Given the description of an element on the screen output the (x, y) to click on. 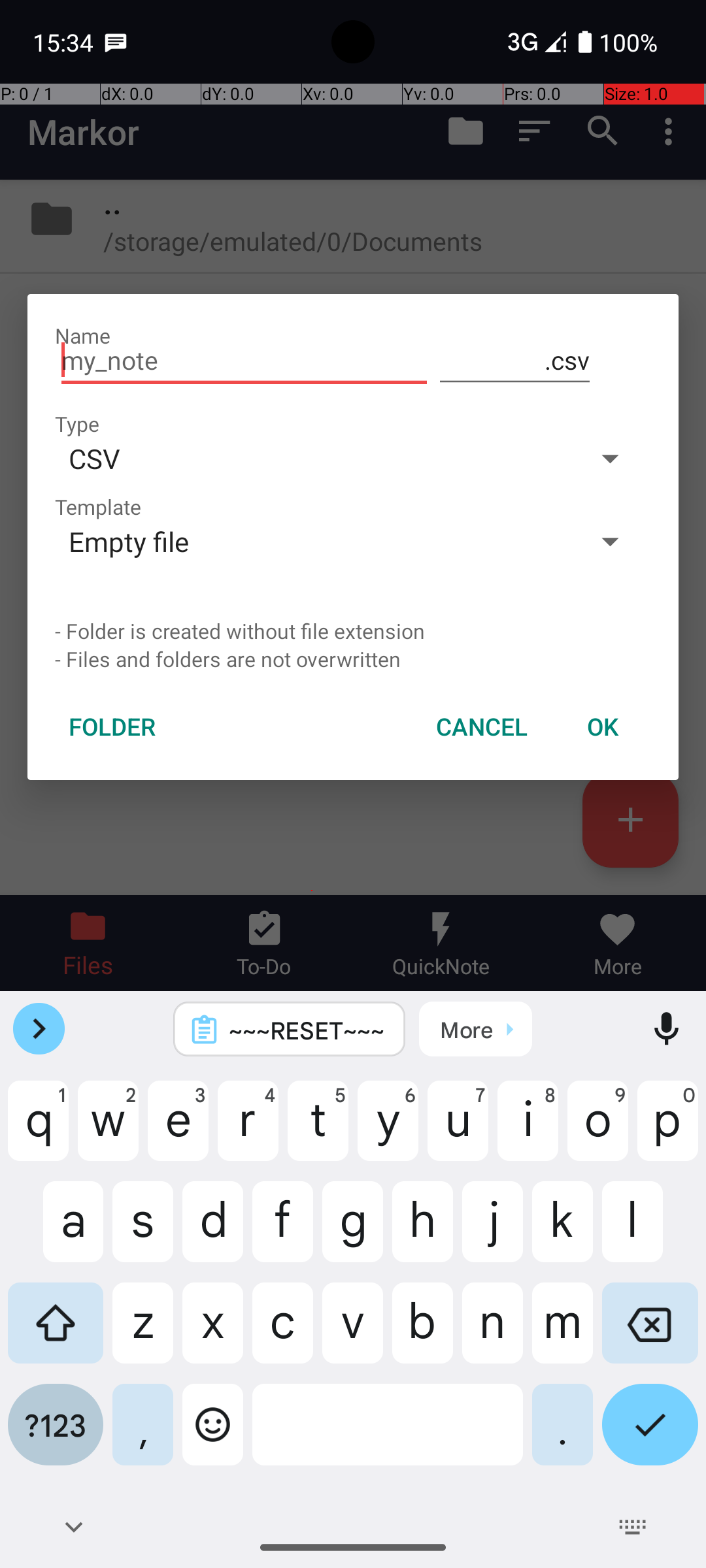
.csv Element type: android.widget.EditText (514, 360)
CSV Element type: android.widget.TextView (311, 457)
~~~RESET~~~ Element type: android.widget.TextView (306, 1029)
